Given the description of an element on the screen output the (x, y) to click on. 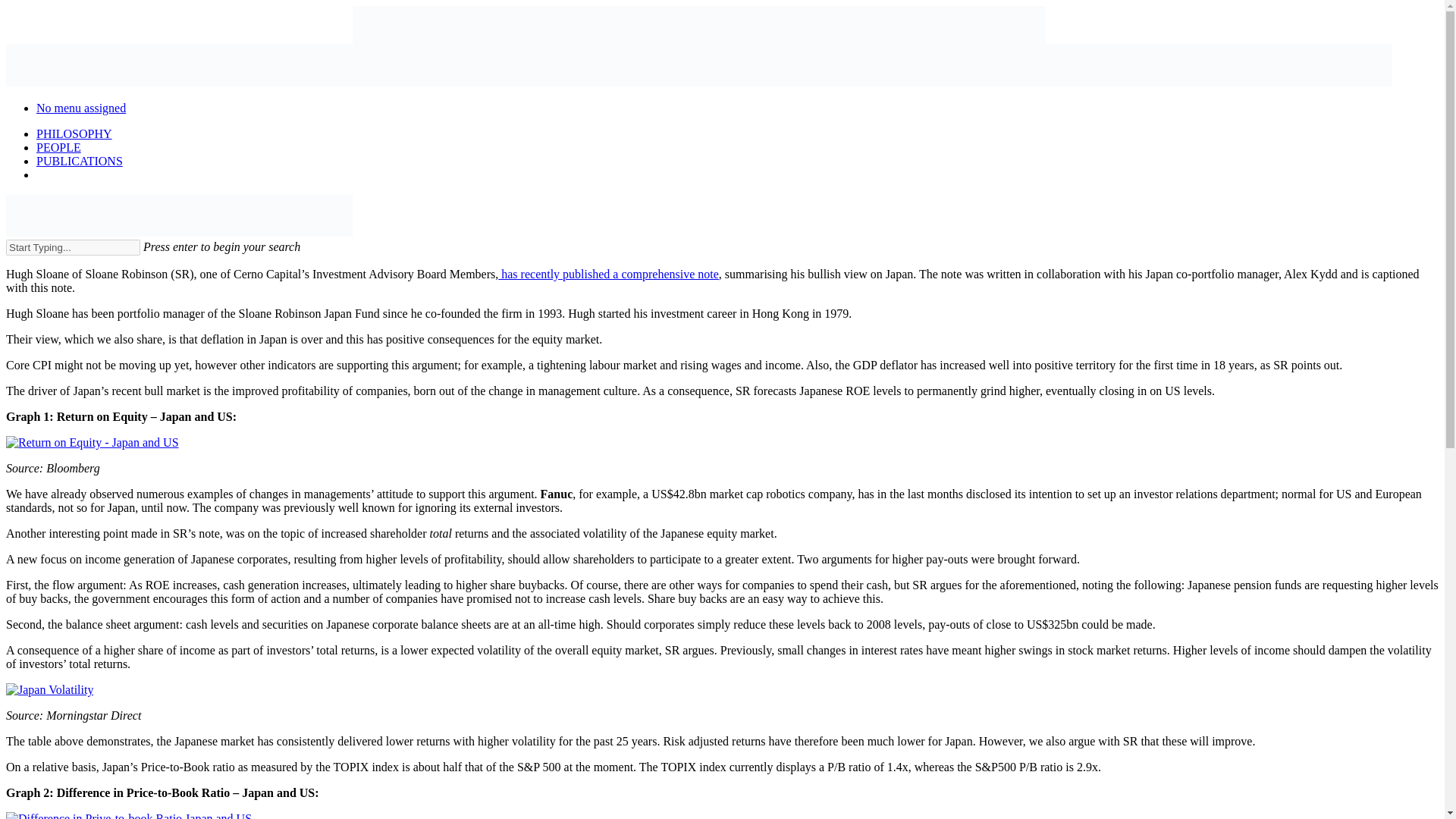
No menu assigned (80, 107)
PHILOSOPHY (74, 133)
PUBLICATIONS (79, 160)
has recently published a comprehensive note (608, 273)
PEOPLE (58, 146)
Start Typing... (72, 247)
